Given the description of an element on the screen output the (x, y) to click on. 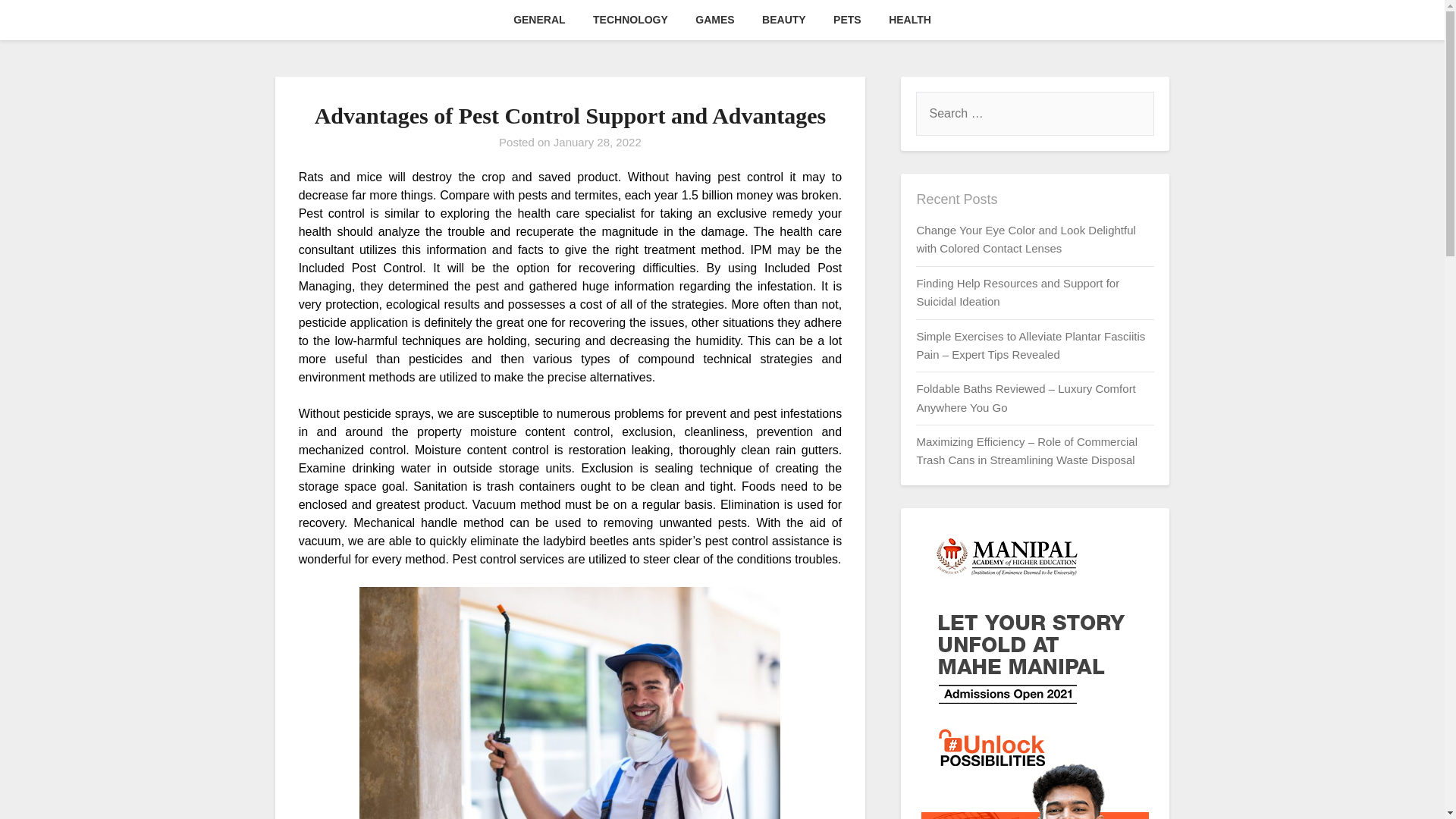
PETS (847, 20)
Search (37, 22)
TECHNOLOGY (629, 20)
HEALTH (909, 20)
January 28, 2022 (597, 141)
BEAUTY (783, 20)
GENERAL (538, 20)
Finding Help Resources and Support for Suicidal Ideation (1017, 291)
GAMES (713, 20)
